Given the description of an element on the screen output the (x, y) to click on. 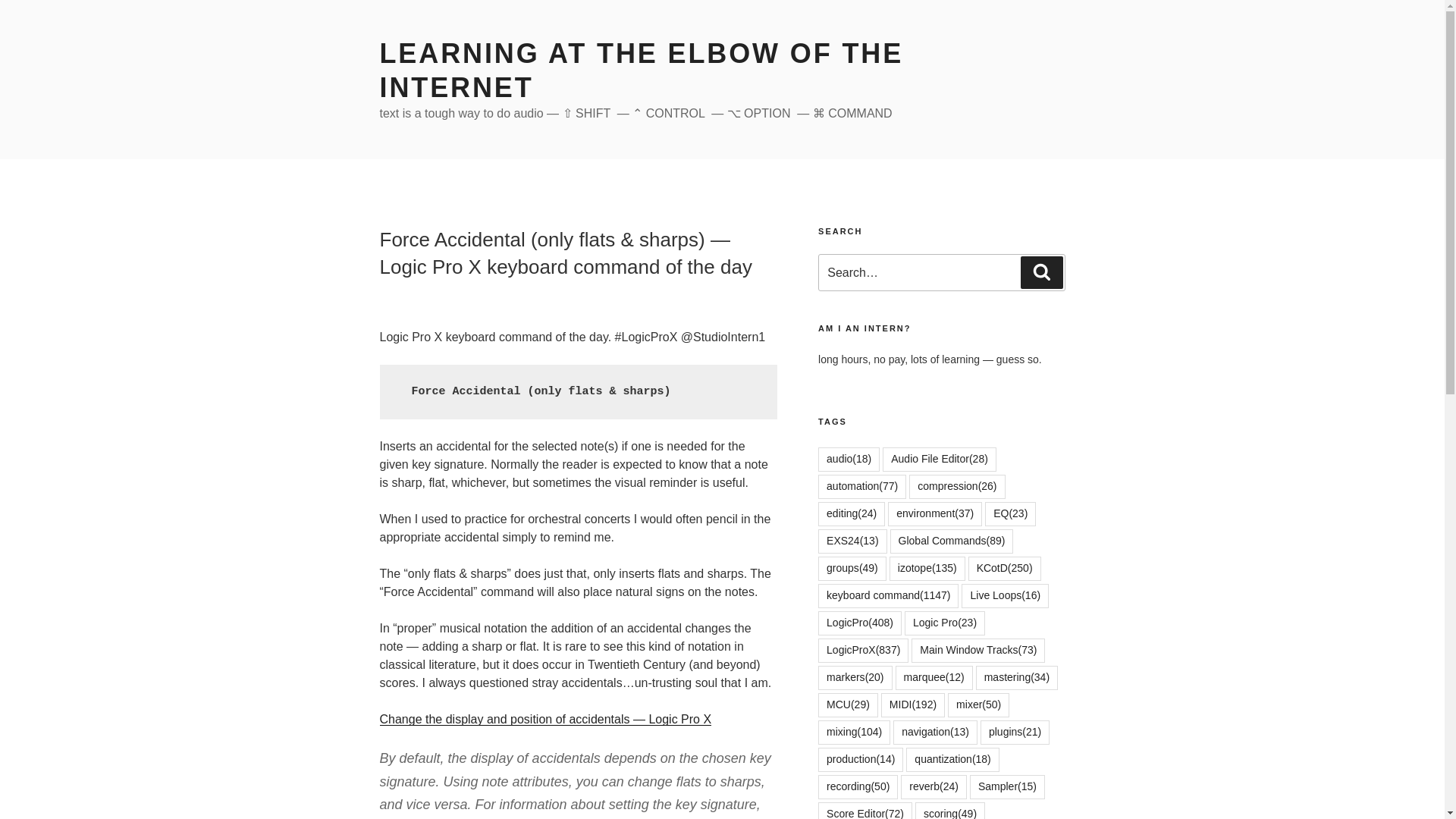
Search (1041, 272)
LEARNING AT THE ELBOW OF THE INTERNET (640, 70)
Change the display and position of accidentals - Logic Pro X (544, 718)
